Given the description of an element on the screen output the (x, y) to click on. 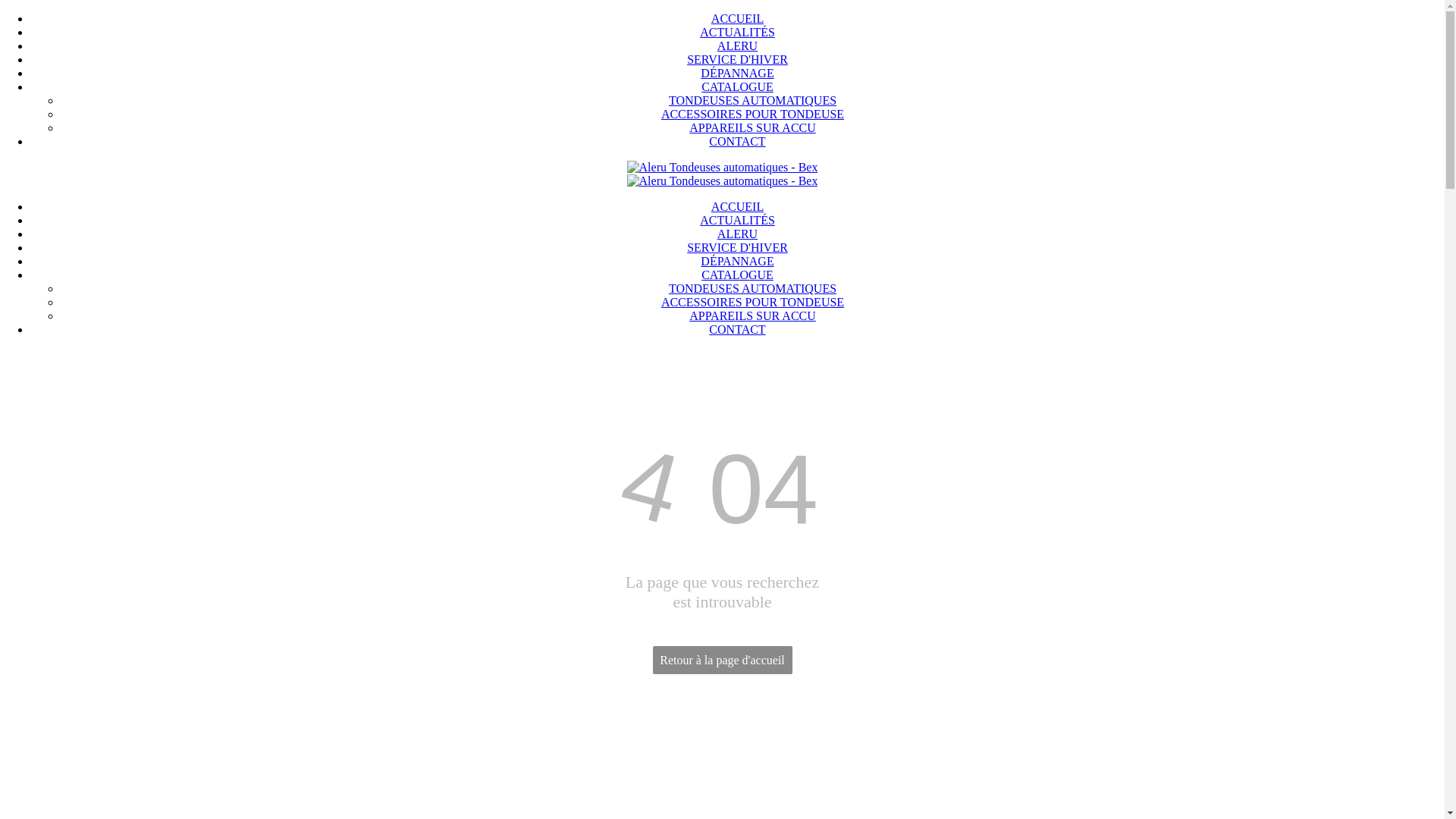
SERVICE D'HIVER Element type: text (737, 247)
SERVICE D'HIVER Element type: text (737, 59)
ALERU Element type: text (737, 45)
APPAREILS SUR ACCU Element type: text (752, 127)
ACCUEIL Element type: text (737, 206)
CONTACT Element type: text (737, 140)
ACCESSOIRES POUR TONDEUSE Element type: text (752, 113)
ACCESSOIRES POUR TONDEUSE Element type: text (752, 301)
ACCUEIL Element type: text (737, 18)
TONDEUSES AUTOMATIQUES Element type: text (752, 100)
CATALOGUE Element type: text (737, 274)
CONTACT Element type: text (737, 329)
CATALOGUE Element type: text (737, 86)
ALERU Element type: text (737, 233)
TONDEUSES AUTOMATIQUES Element type: text (752, 288)
APPAREILS SUR ACCU Element type: text (752, 315)
